Given the description of an element on the screen output the (x, y) to click on. 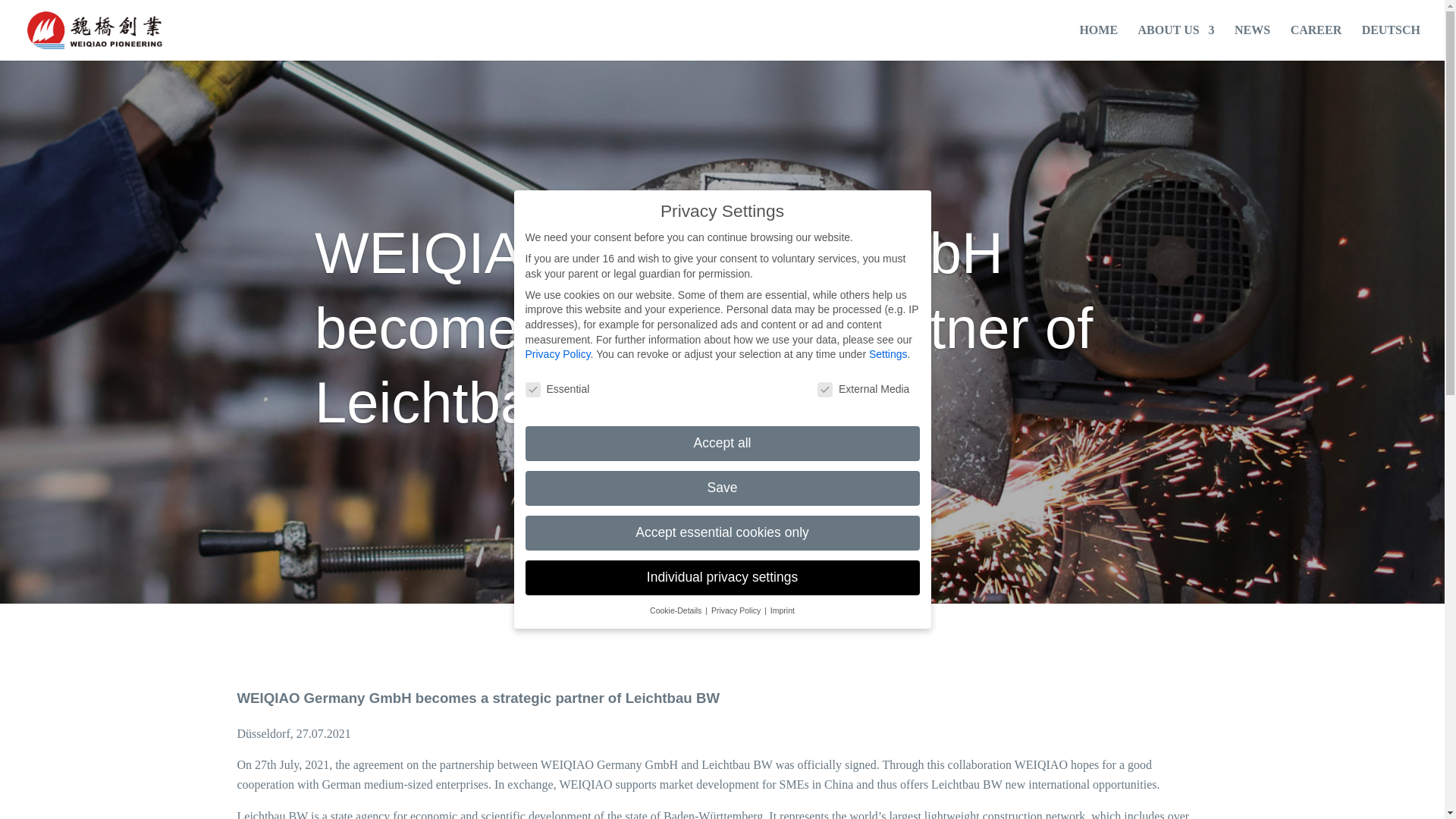
Individual privacy settings (721, 577)
Privacy Policy (736, 610)
NEWS (1251, 42)
Privacy Policy (556, 354)
DEUTSCH (1391, 42)
Accept all (721, 443)
HOME (1098, 42)
Settings (888, 354)
CAREER (1316, 42)
Save (721, 488)
ABOUT US (1176, 42)
Cookie-Details (676, 610)
Imprint (782, 610)
Accept essential cookies only (721, 532)
